Given the description of an element on the screen output the (x, y) to click on. 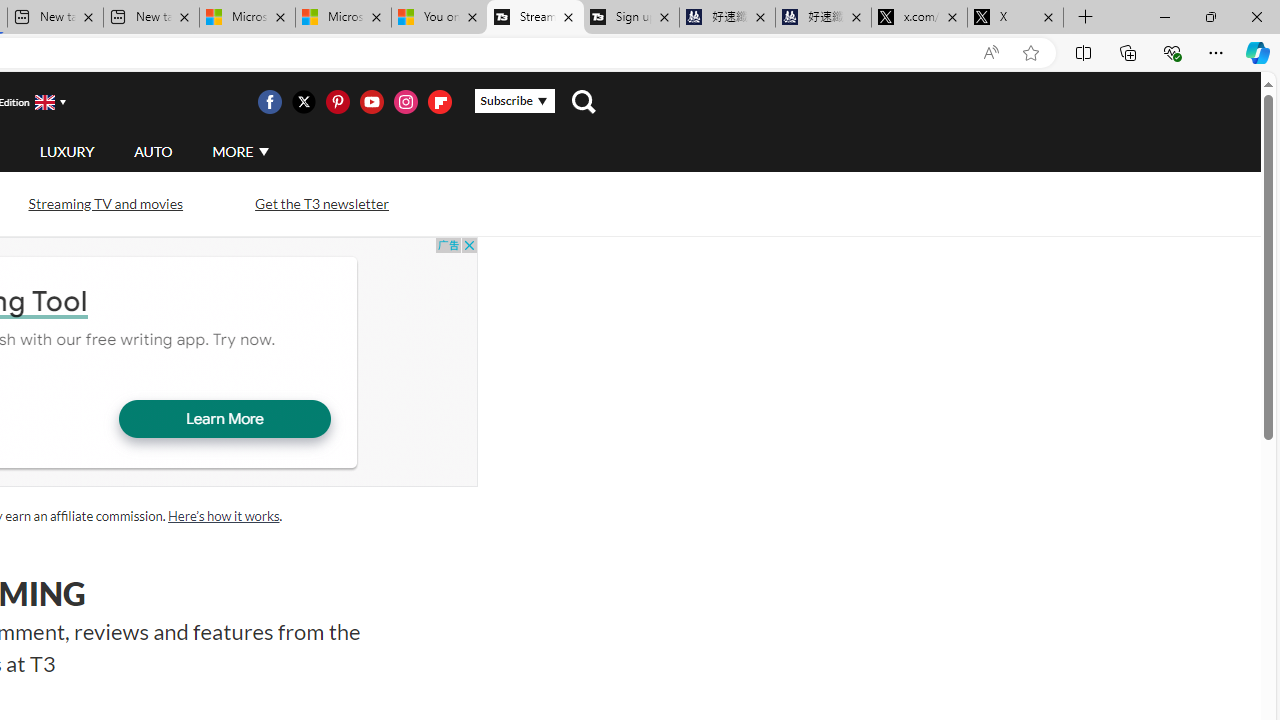
AUTO (153, 151)
Subscribe (514, 101)
LUXURY (66, 151)
Visit us on Pintrest (337, 101)
Visit us on Youtube (371, 101)
Get the T3 newsletter (322, 202)
Visit us on Twitter (303, 101)
MORE  (239, 151)
Microsoft Start Sports (247, 17)
